Given the description of an element on the screen output the (x, y) to click on. 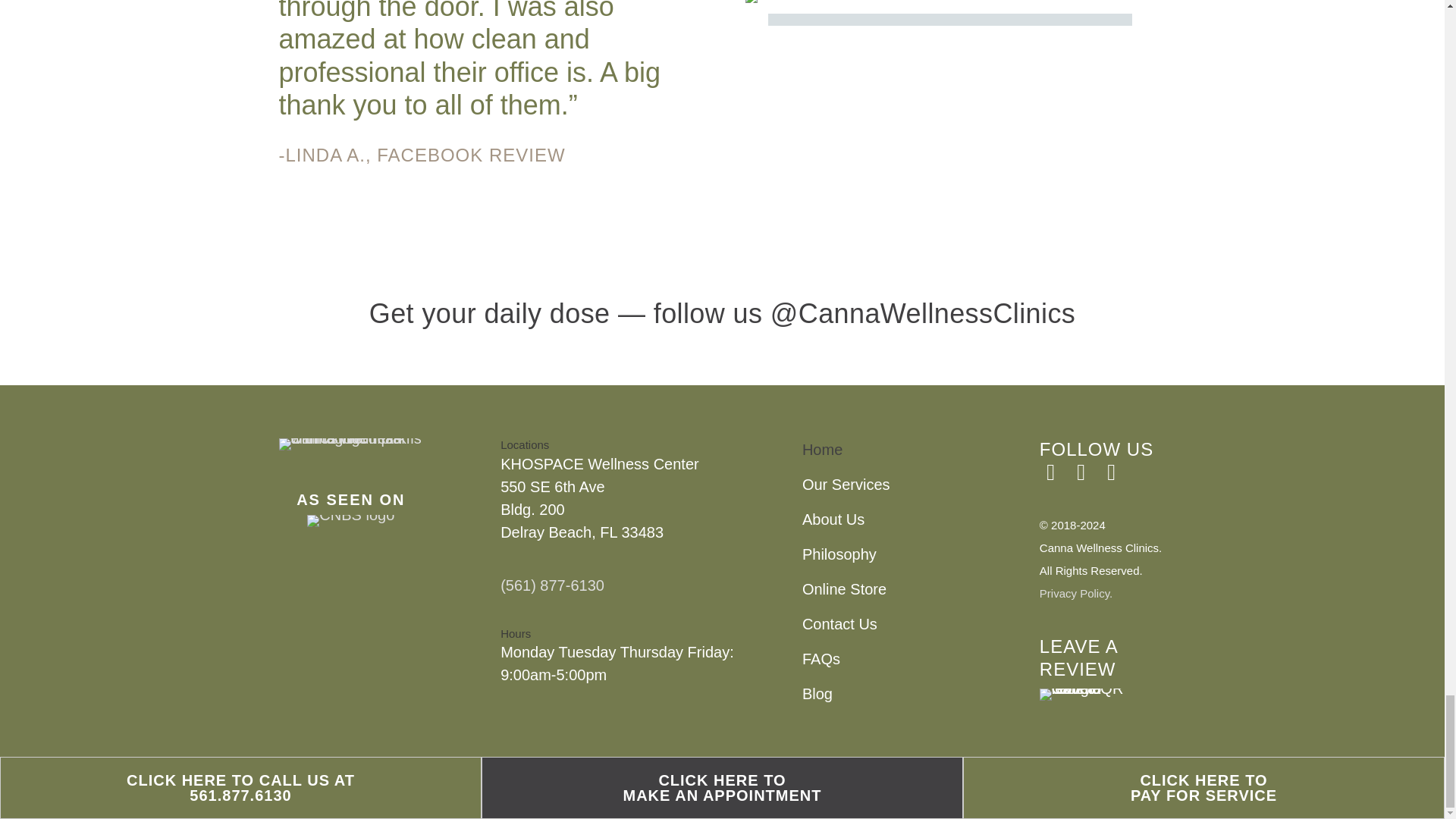
AS SEEN ON (350, 499)
